Given the description of an element on the screen output the (x, y) to click on. 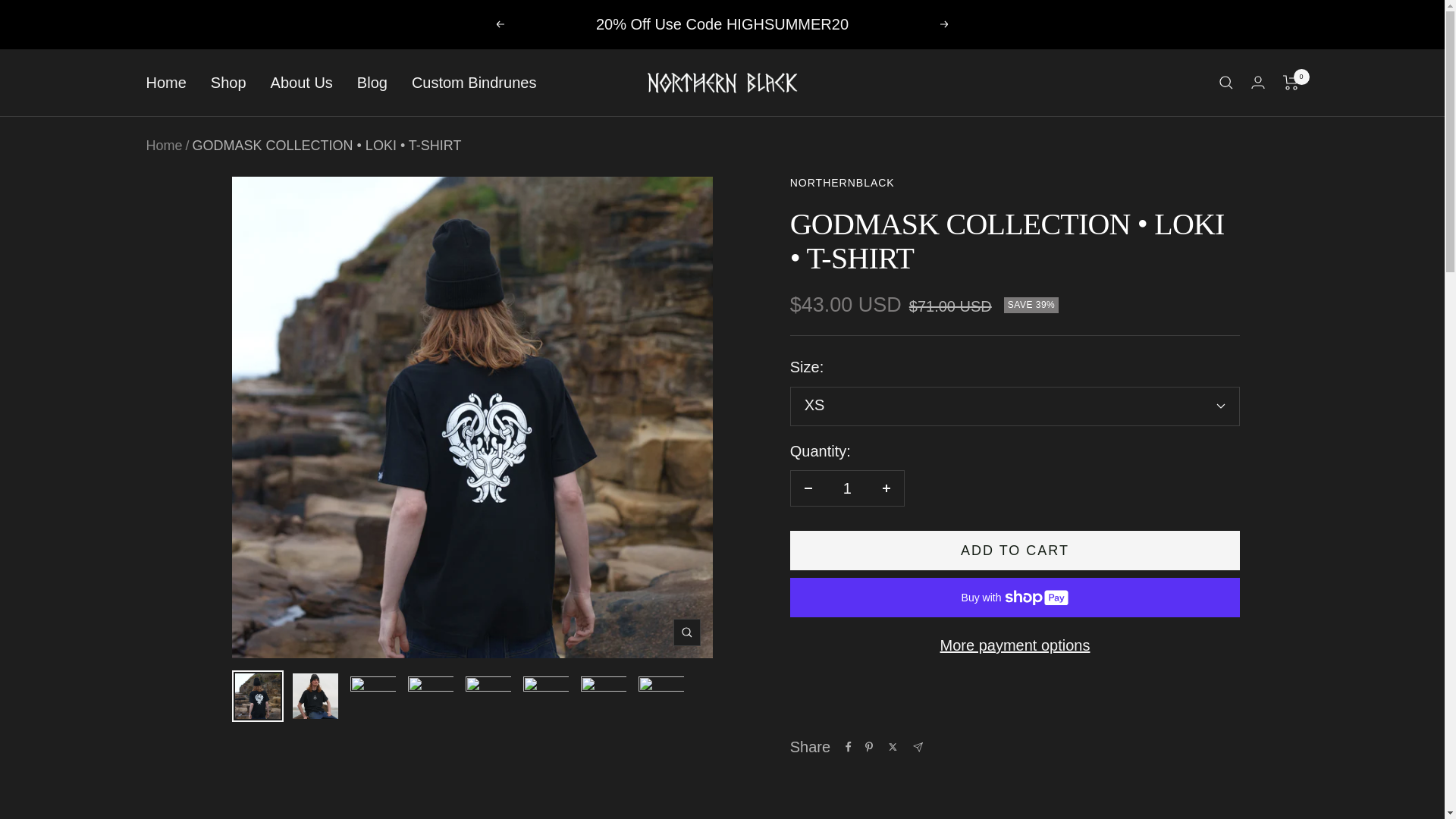
1 (847, 488)
Shop (228, 82)
Home (165, 82)
Custom Bindrunes (474, 82)
About Us (301, 82)
Zoom (686, 632)
Home (163, 145)
Previous (499, 23)
NorthernBlack (721, 83)
0 (1290, 82)
